Given the description of an element on the screen output the (x, y) to click on. 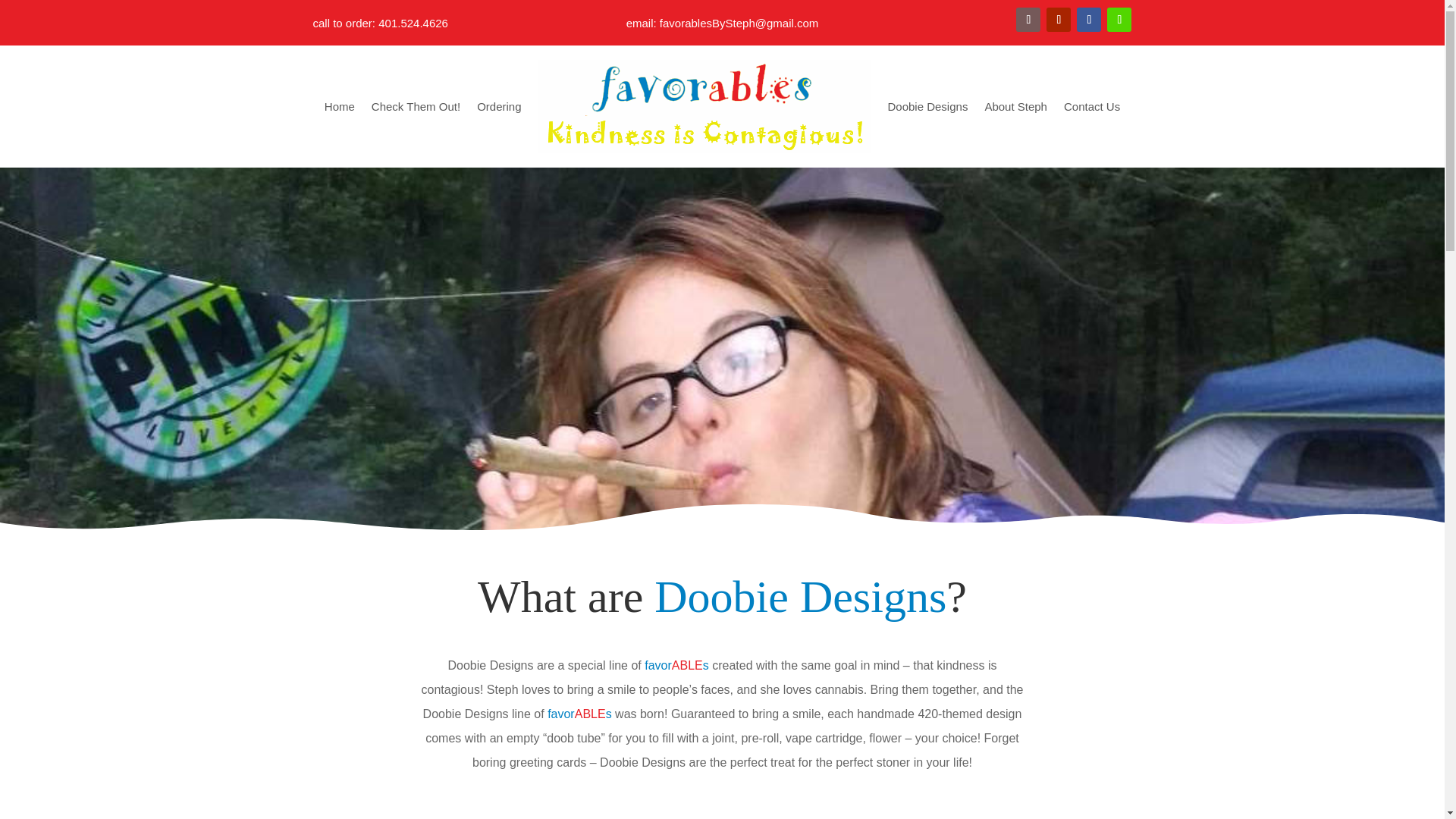
Check Them Out! (415, 106)
Follow on Instagram (1118, 19)
Follow on Facebook (1088, 19)
Follow on Youtube (1058, 19)
Follow on Instagram (1028, 19)
